Given the description of an element on the screen output the (x, y) to click on. 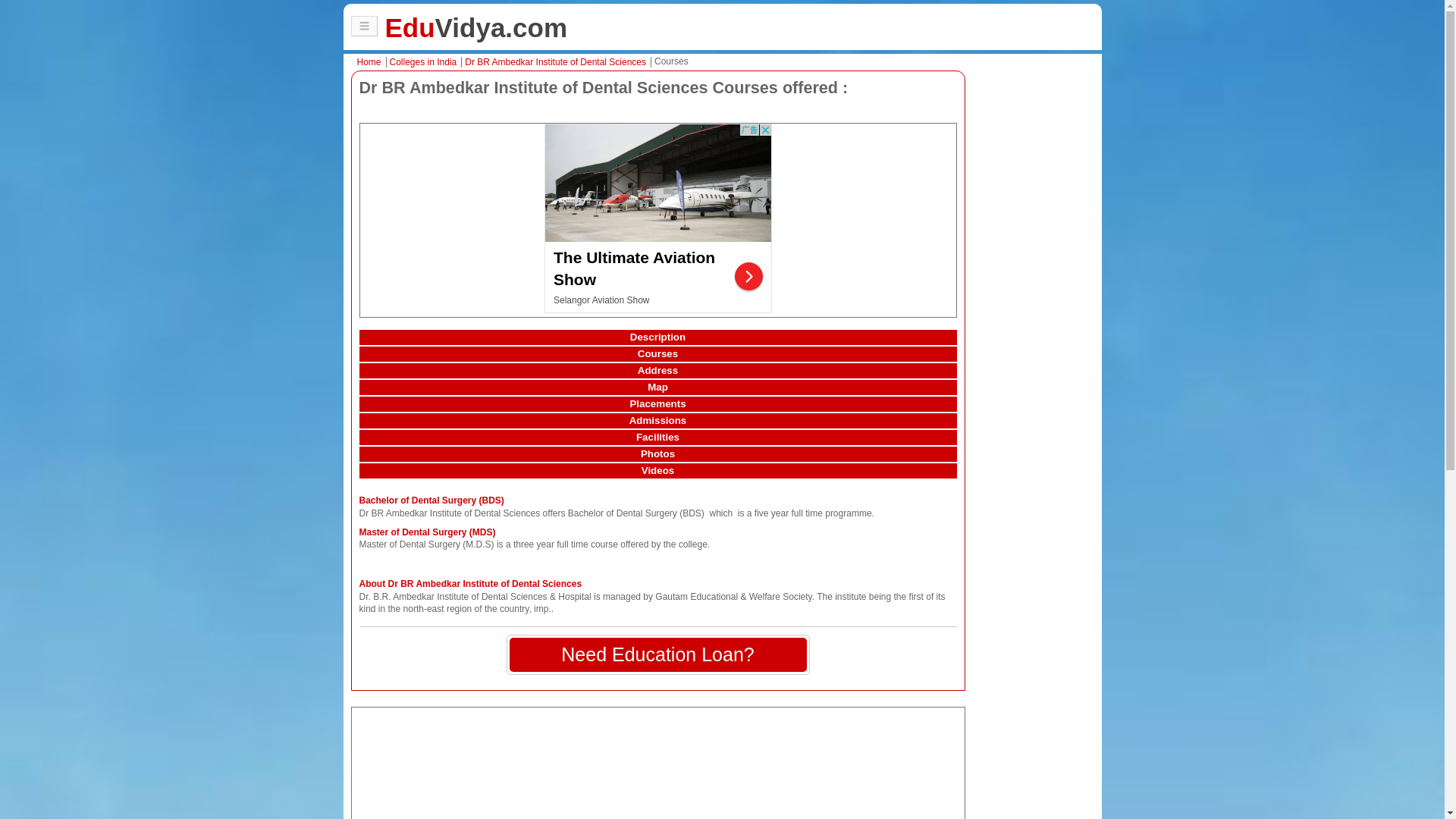
Description (657, 337)
Dr BR Ambedkar Institute of Dental Sciences (557, 61)
EduVidya.com (476, 26)
Map (657, 387)
Photos (657, 453)
Admissions (657, 420)
Address (657, 370)
Placements (657, 403)
Home (370, 61)
3rd party ad content (657, 763)
